Given the description of an element on the screen output the (x, y) to click on. 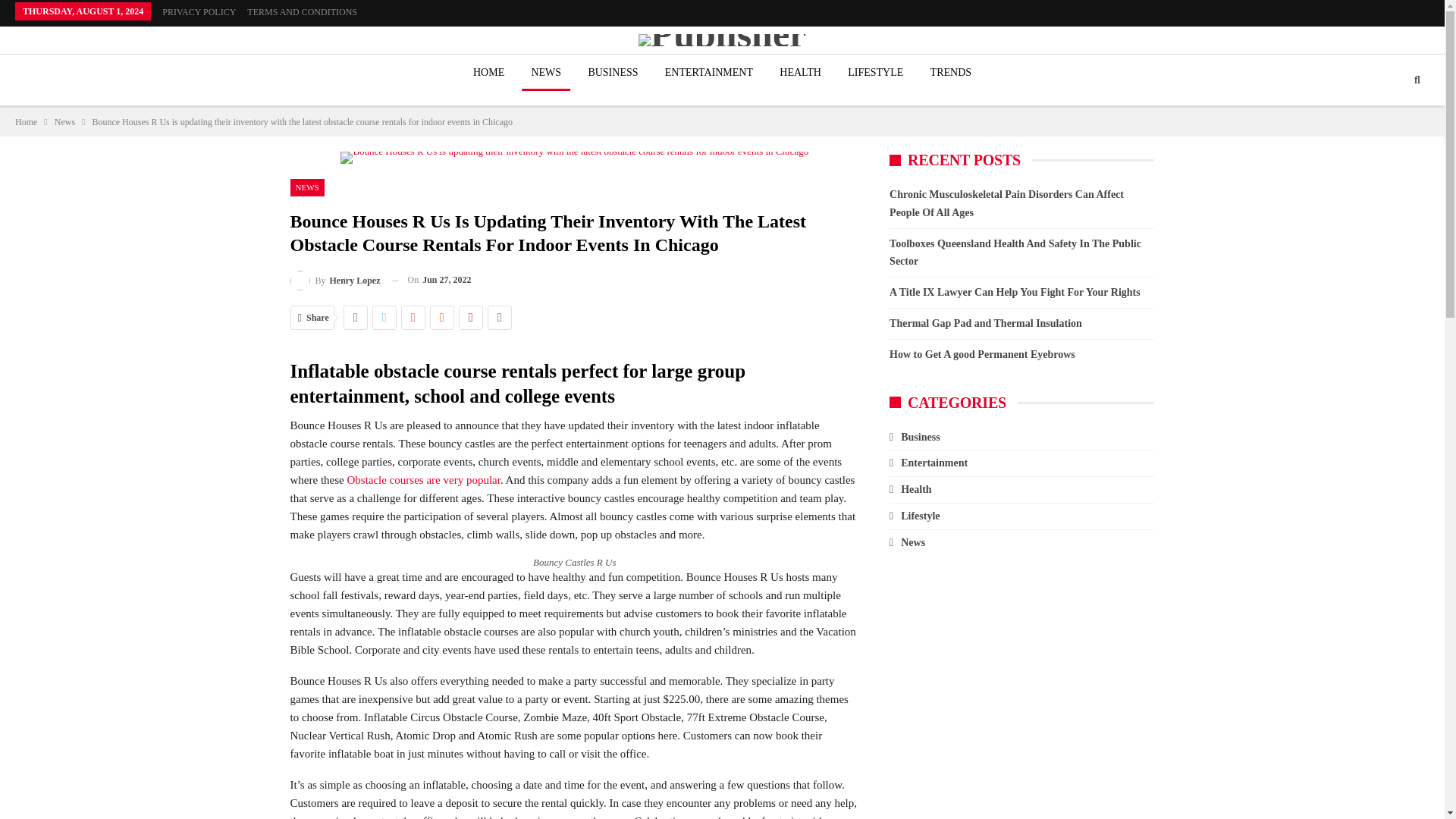
HEALTH (799, 72)
PRIVACY POLICY (198, 11)
TERMS AND CONDITIONS (301, 11)
News (65, 121)
BUSINESS (612, 72)
LIFESTYLE (875, 72)
NEWS (545, 72)
Obstacle courses are very popular (422, 480)
NEWS (306, 187)
By Henry Lopez (334, 280)
HOME (488, 72)
Home (25, 121)
Browse Author Articles (334, 280)
TRENDS (950, 72)
ENTERTAINMENT (708, 72)
